Given the description of an element on the screen output the (x, y) to click on. 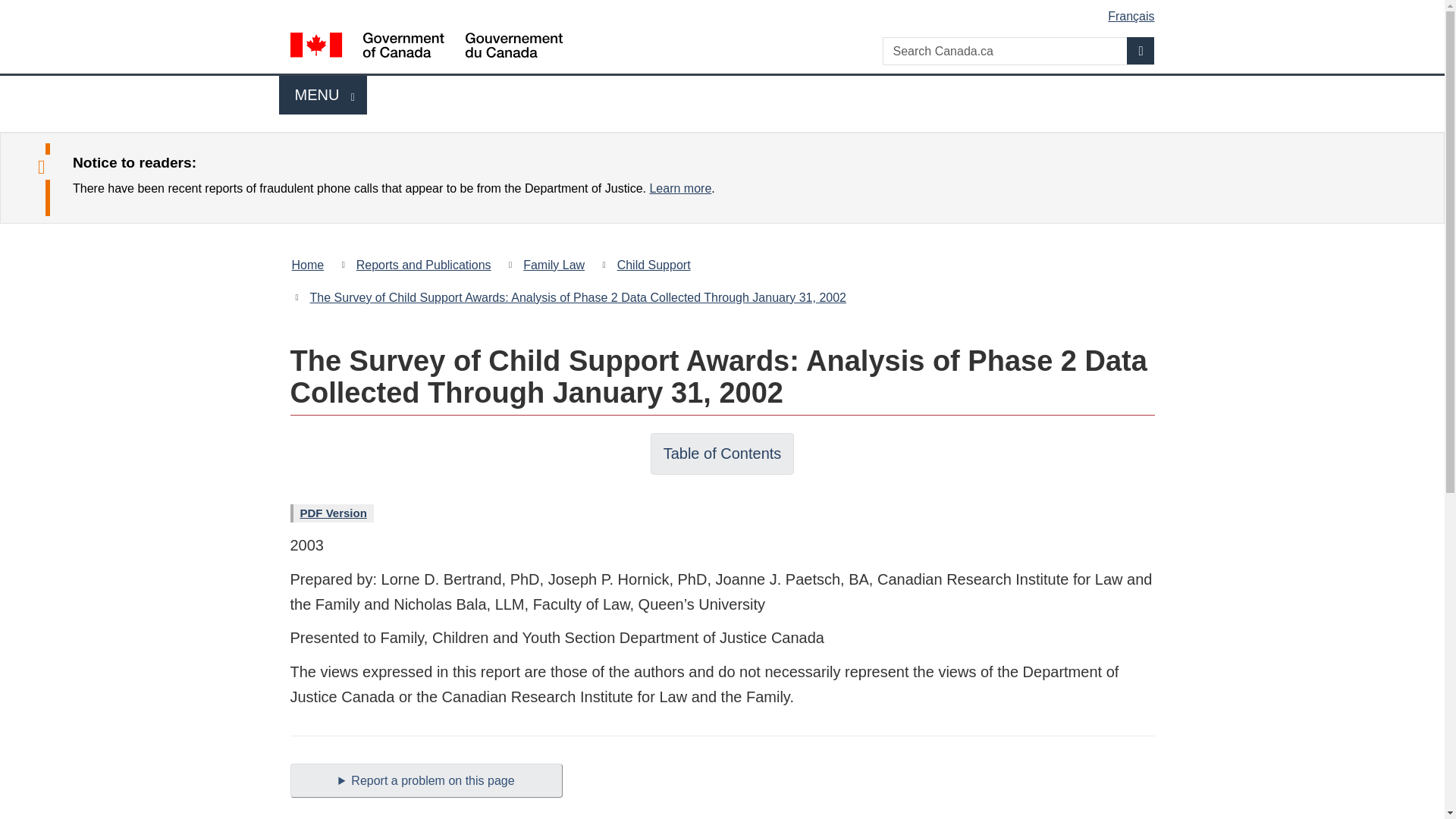
Skip to main content (725, 11)
Search (1140, 50)
